Given the description of an element on the screen output the (x, y) to click on. 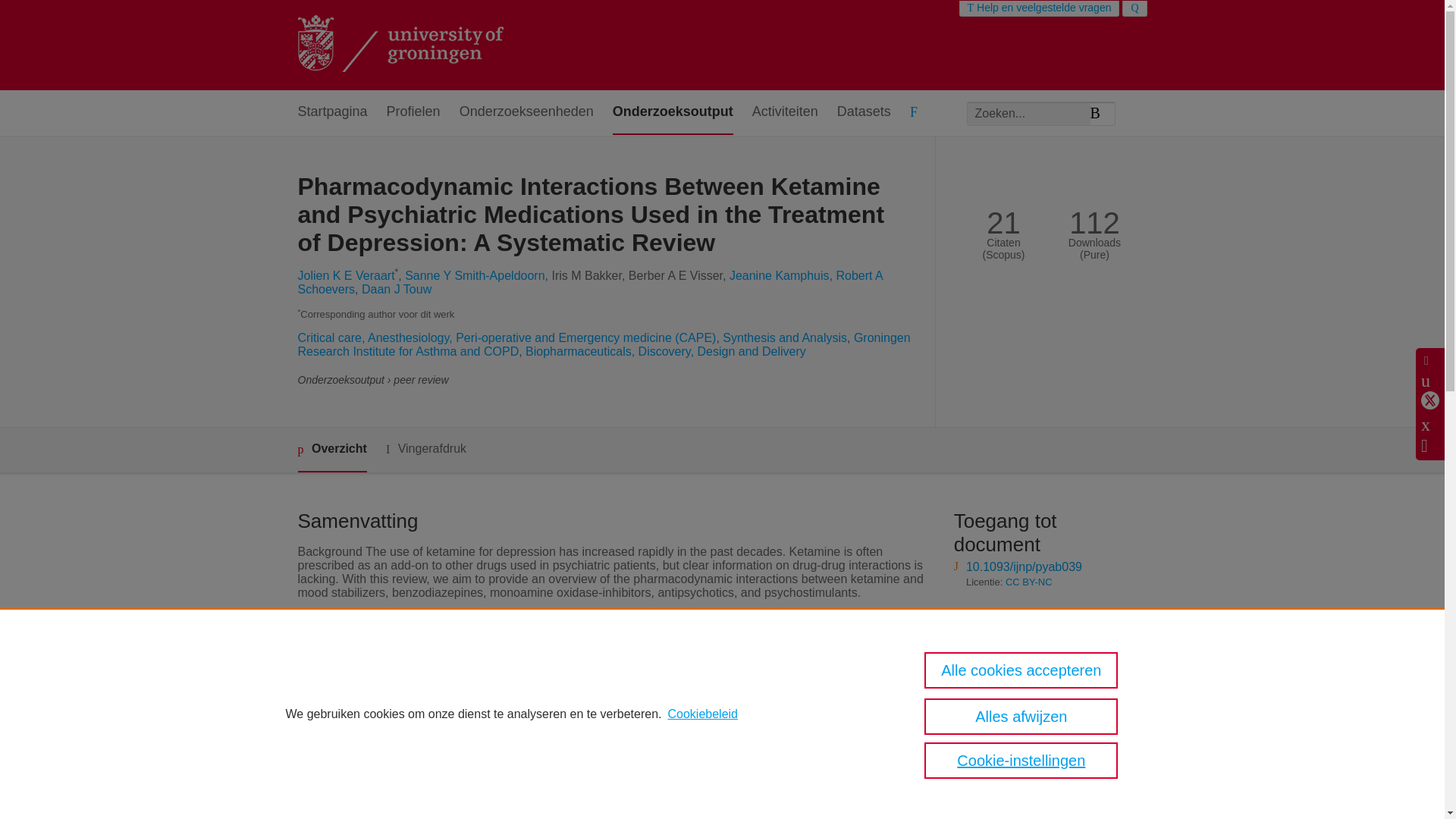
Jolien K E Veraart (345, 275)
Biopharmaceuticals, Discovery, Design and Delivery (665, 350)
Synthesis and Analysis (784, 337)
Vingerafdruk (425, 448)
Jeanine Kamphuis (779, 275)
Help en veelgestelde vragen (1039, 7)
Onderzoeksoutput (672, 112)
Startpagina (331, 112)
CC BY-NC (1029, 582)
Activiteiten (785, 112)
